Given the description of an element on the screen output the (x, y) to click on. 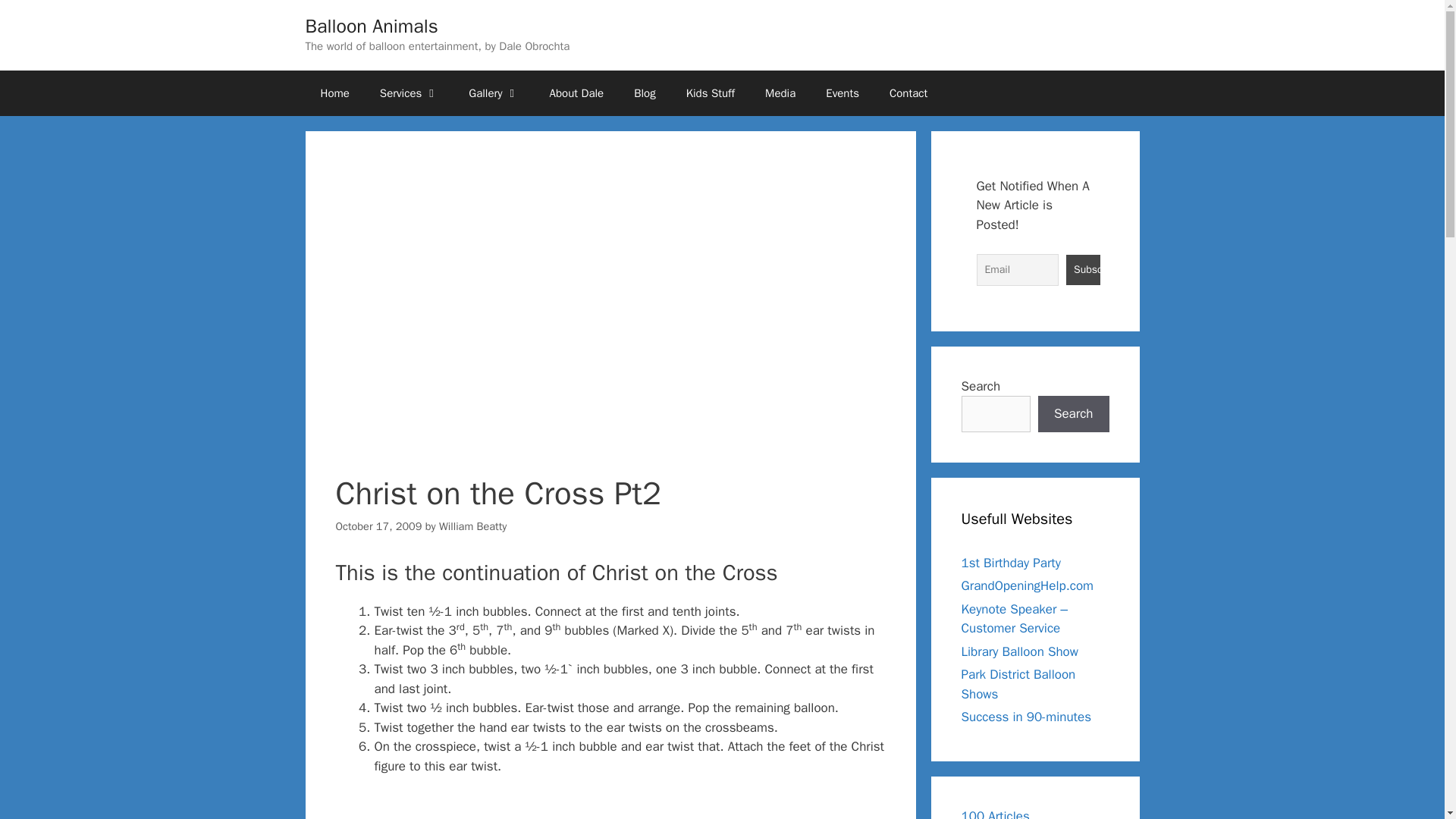
Gallery (493, 92)
Kids Stuff (710, 92)
Subscribe (1082, 269)
Contact (908, 92)
Balloon Entertainer for 1st Birthday Parties (1010, 562)
Specializing in helping business with their grand openings. (1027, 585)
Great Family Show for Libraries (1019, 650)
Search (1073, 413)
Subscribe (1082, 269)
Blog (643, 92)
View all posts by William Beatty (472, 526)
Balloon Animals (371, 25)
About Dale (577, 92)
Services (408, 92)
Home (334, 92)
